Given the description of an element on the screen output the (x, y) to click on. 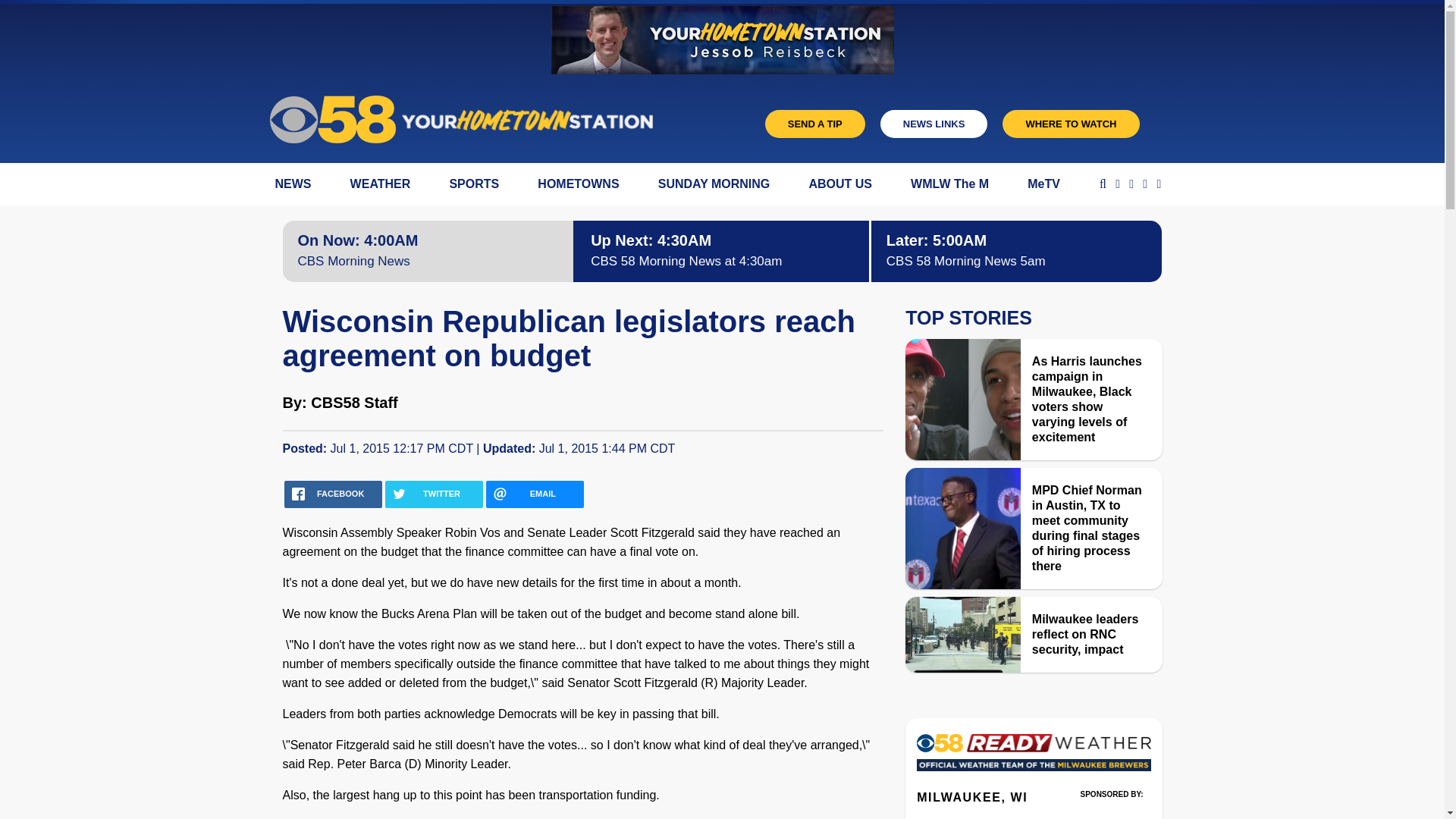
3rd party ad content (1112, 811)
Weather (1033, 757)
